Given the description of an element on the screen output the (x, y) to click on. 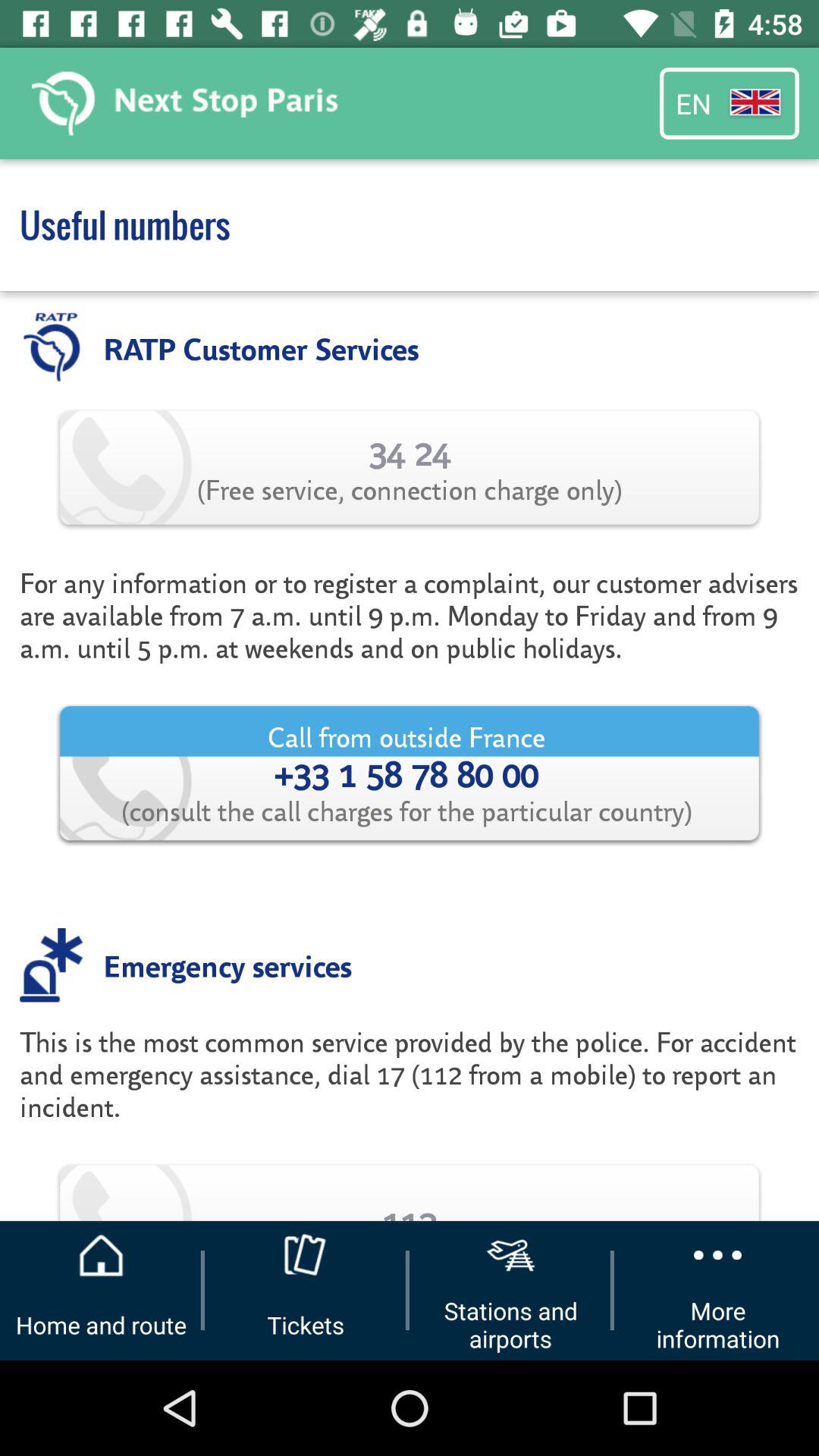
choose the call from outside app (409, 773)
